Given the description of an element on the screen output the (x, y) to click on. 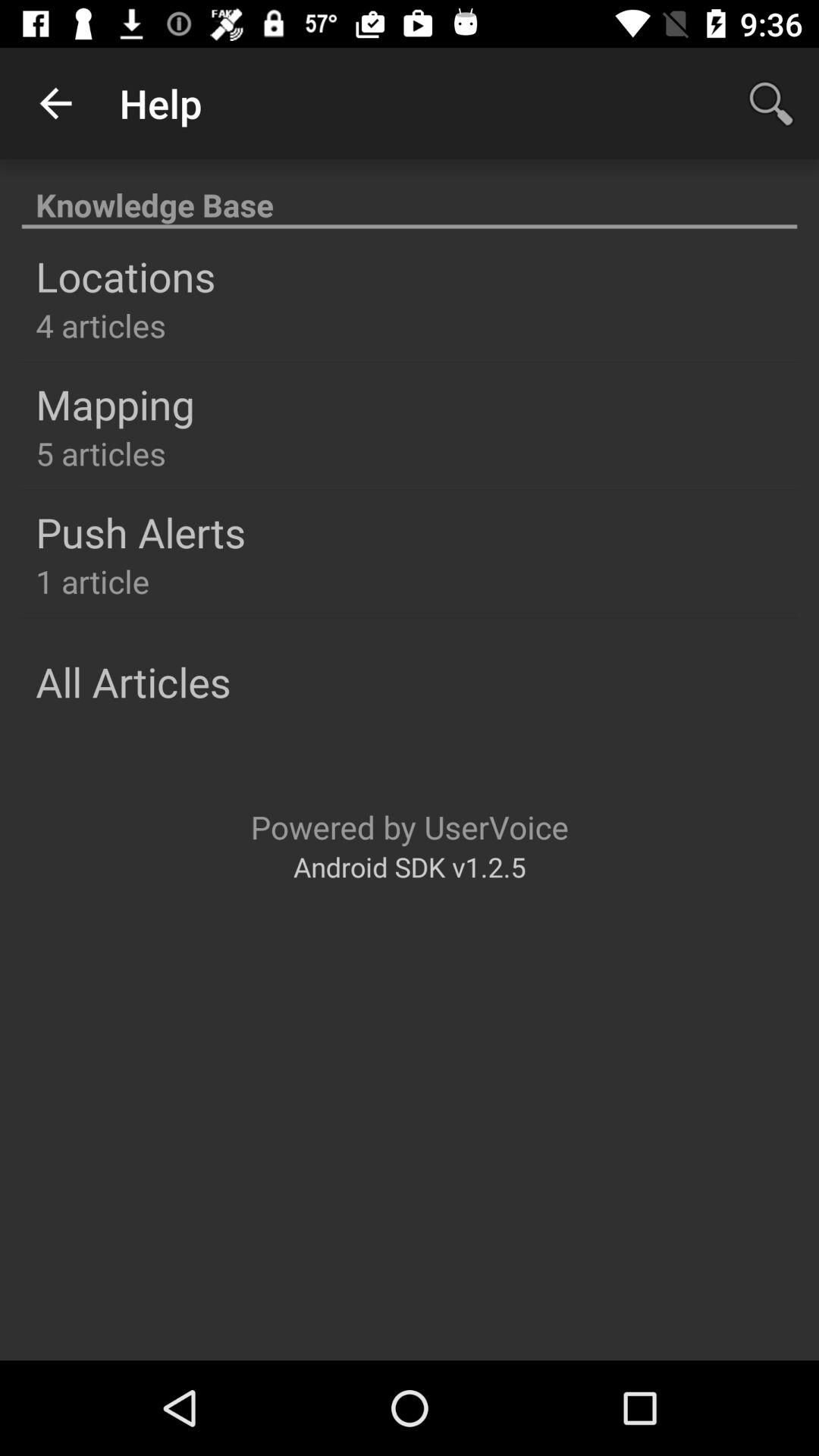
scroll until mapping item (114, 403)
